Given the description of an element on the screen output the (x, y) to click on. 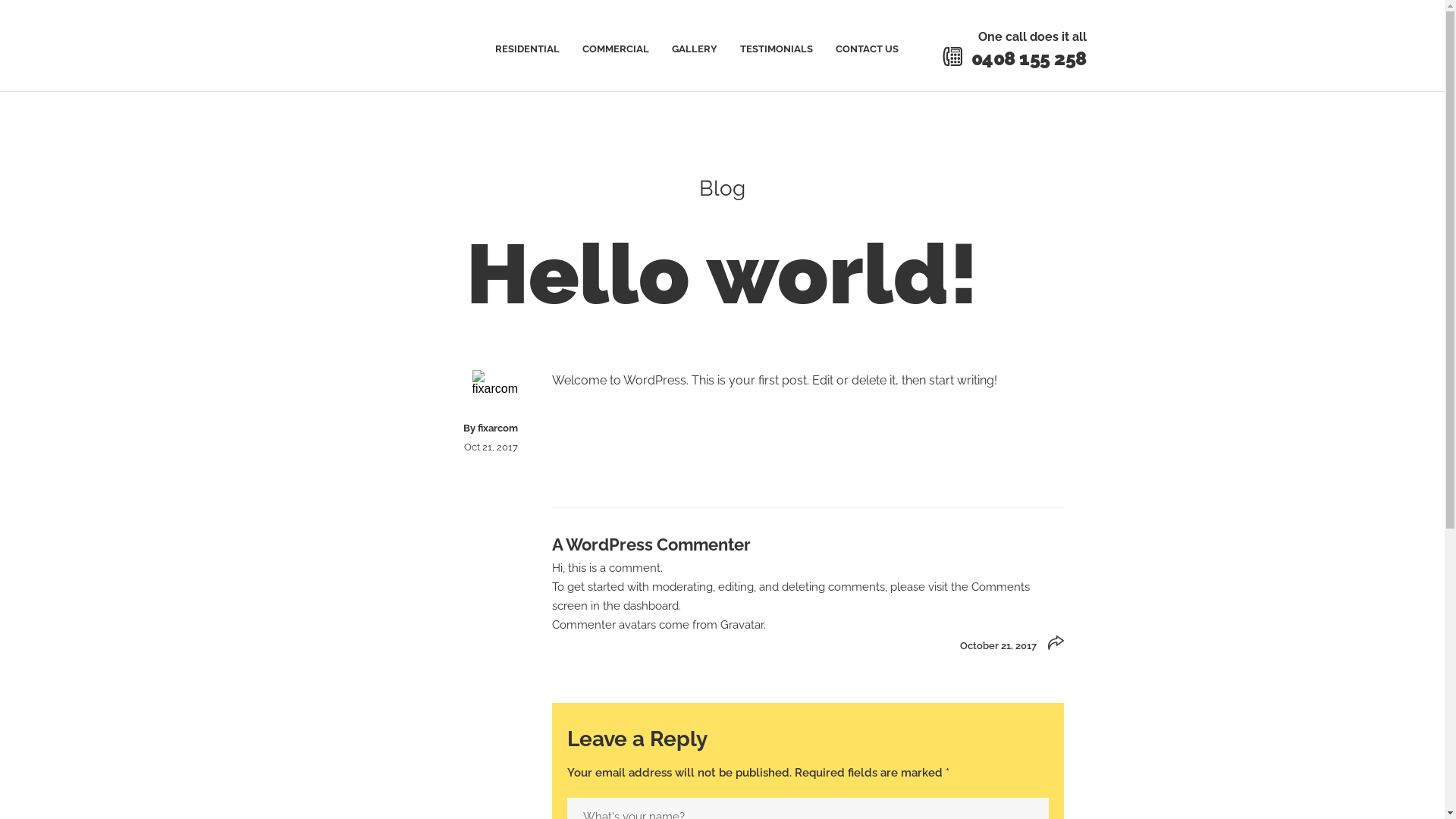
TESTIMONIALS Element type: text (776, 50)
GALLERY Element type: text (694, 50)
fixarcom Element type: text (497, 427)
CONTACT US Element type: text (866, 50)
RESIDENTIAL Element type: text (526, 50)
Gravatar Element type: text (741, 624)
COMMERCIAL Element type: text (615, 50)
Reply Element type: text (1055, 642)
A WordPress Commenter Element type: text (651, 544)
October 21, 2017 Element type: text (998, 645)
